Given the description of an element on the screen output the (x, y) to click on. 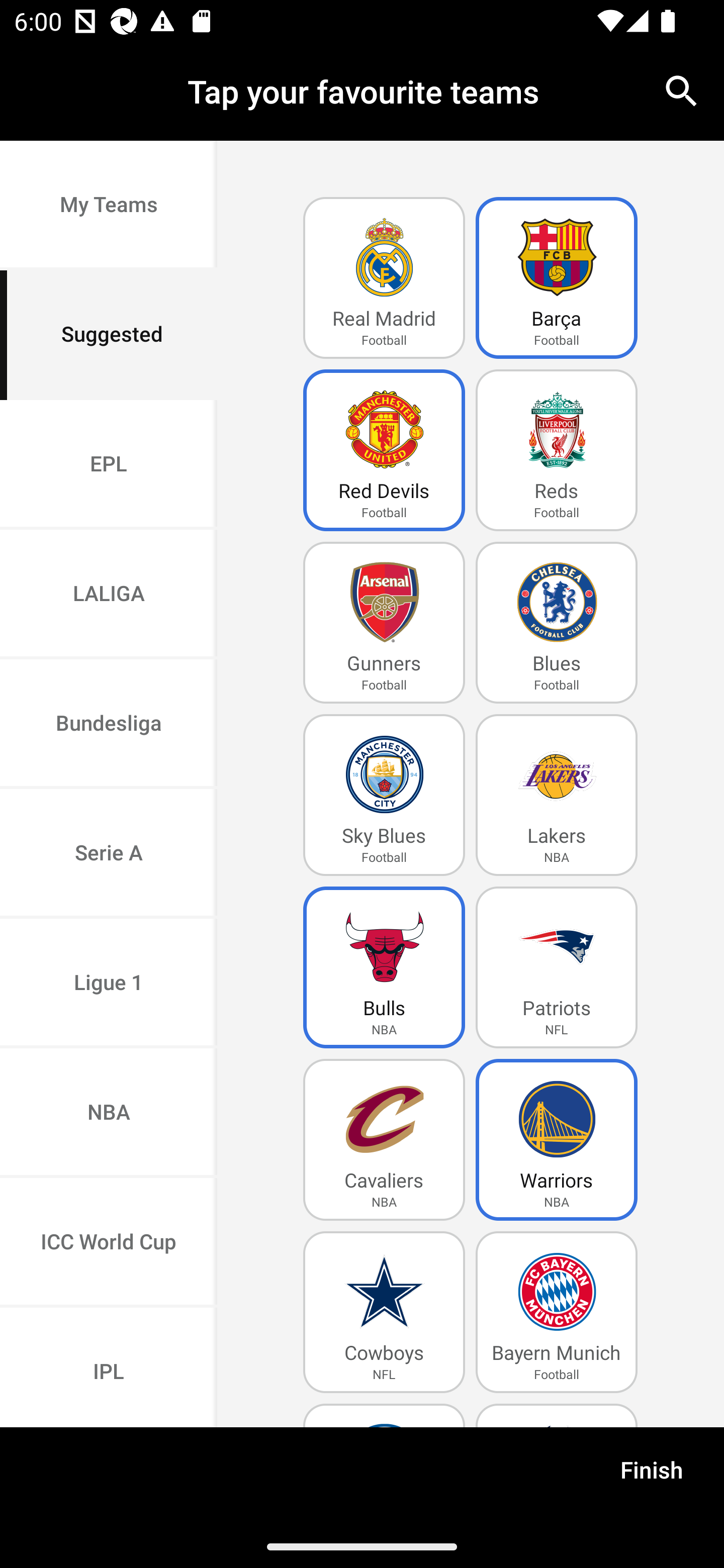
search (681, 90)
My Teams (108, 206)
Real Madrid Real Madrid Football (383, 278)
Barça BarçaSelected Football (556, 278)
Suggested (108, 334)
Red Devils Red DevilsSelected Football (383, 450)
Reds Reds Football (556, 450)
EPL (108, 464)
LALIGA (108, 594)
Gunners Gunners Football (383, 623)
Blues Blues Football (556, 623)
Bundesliga (108, 725)
Sky Blues Sky Blues Football (383, 794)
Lakers Lakers NBA (556, 794)
Serie A (108, 853)
Bulls BullsSelected NBA (383, 966)
Patriots Patriots NFL (556, 966)
Ligue 1 (108, 983)
NBA (108, 1113)
Cavaliers Cavaliers NBA (383, 1139)
Warriors WarriorsSelected NBA (556, 1139)
ICC World Cup (108, 1242)
Cowboys Cowboys NFL (383, 1311)
Bayern Munich Bayern Munich Football (556, 1311)
IPL (108, 1366)
Finish Finish and Close (651, 1475)
